Given the description of an element on the screen output the (x, y) to click on. 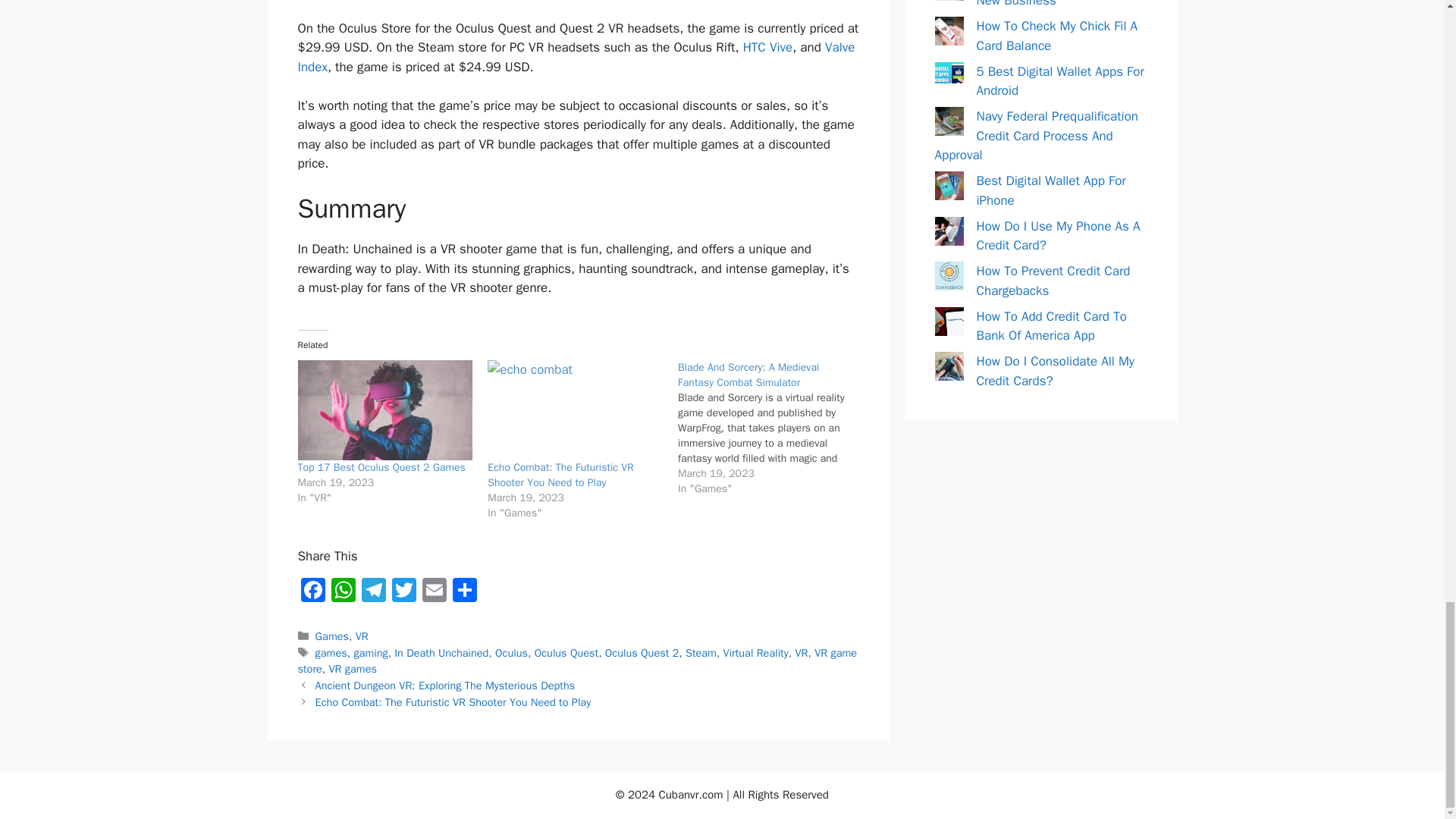
Oculus Quest 2 (641, 653)
Facebook (312, 592)
WhatsApp (342, 592)
Top 17 Best Oculus Quest 2 Games (384, 410)
VR (361, 635)
Echo Combat: The Futuristic VR Shooter You Need to Play (574, 410)
games (331, 653)
Email (433, 592)
HTC Vive (767, 47)
Blade And Sorcery: A Medieval Fantasy Combat Simulator (748, 375)
